Given the description of an element on the screen output the (x, y) to click on. 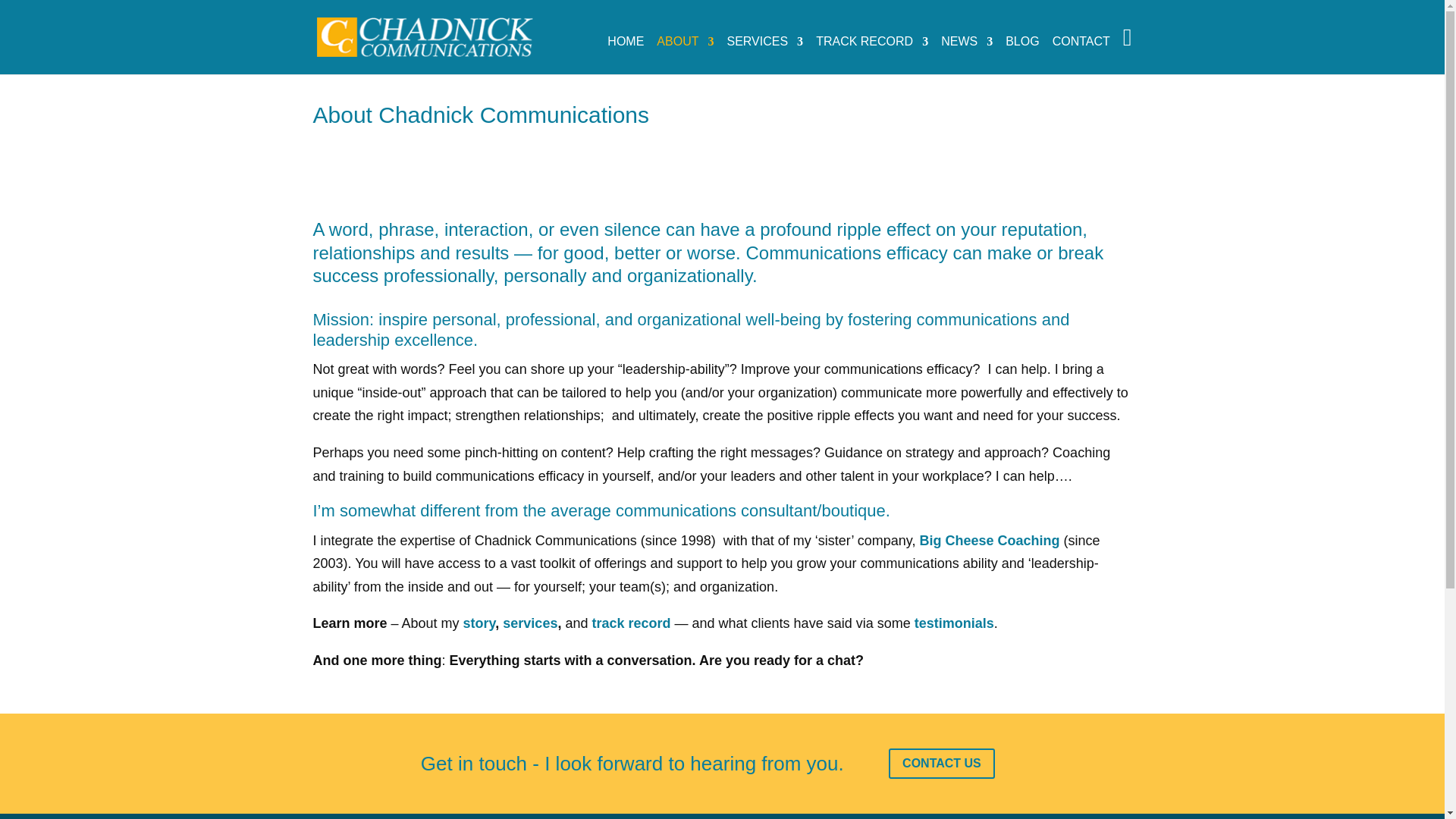
track record (632, 622)
NEWS (966, 54)
SERVICES (764, 54)
CONTACT US (941, 763)
HOME (625, 54)
services (529, 622)
BLOG (1022, 54)
story (479, 622)
CONTACT (1080, 54)
ABOUT (684, 54)
